Given the description of an element on the screen output the (x, y) to click on. 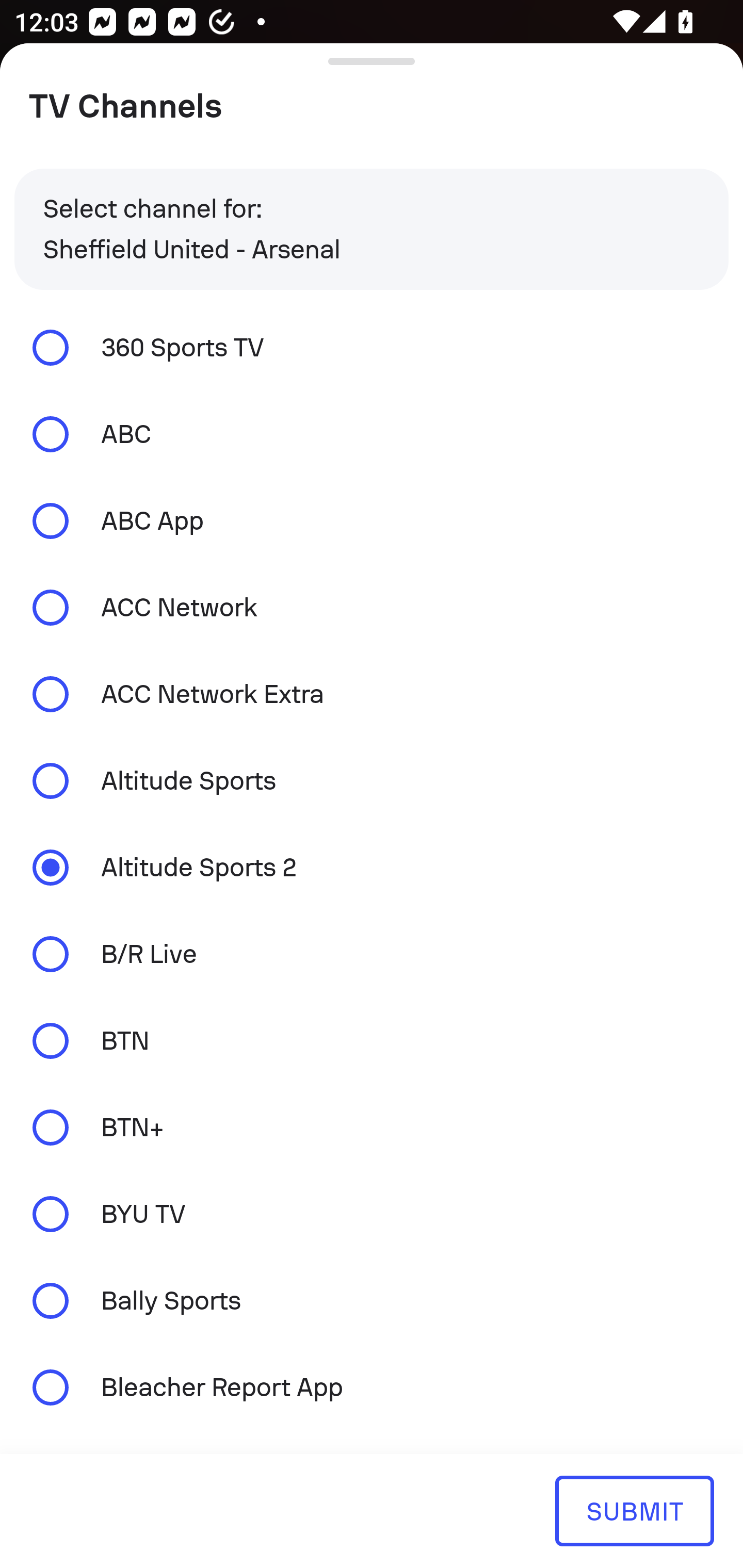
360 Sports TV (371, 347)
ABC (371, 434)
ABC App (371, 521)
ACC Network (371, 607)
ACC Network Extra (371, 693)
Altitude Sports (371, 780)
Altitude Sports 2 (371, 867)
B/R Live (371, 954)
BTN (371, 1040)
BTN+ (371, 1127)
BYU TV (371, 1214)
Bally Sports (371, 1300)
Bleacher Report App (371, 1386)
SUBMIT (634, 1510)
